Given the description of an element on the screen output the (x, y) to click on. 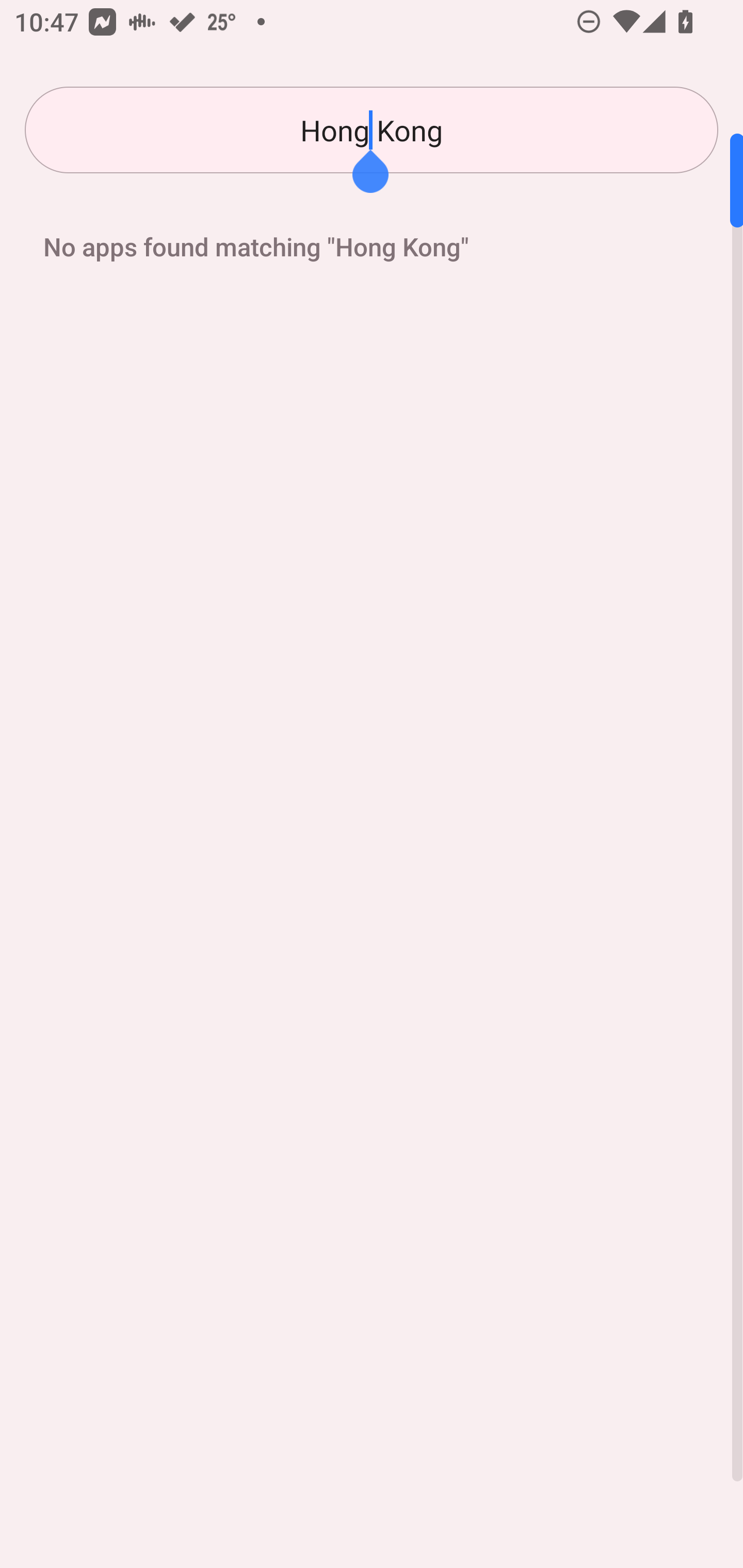
Hong Kong (371, 130)
